Given the description of an element on the screen output the (x, y) to click on. 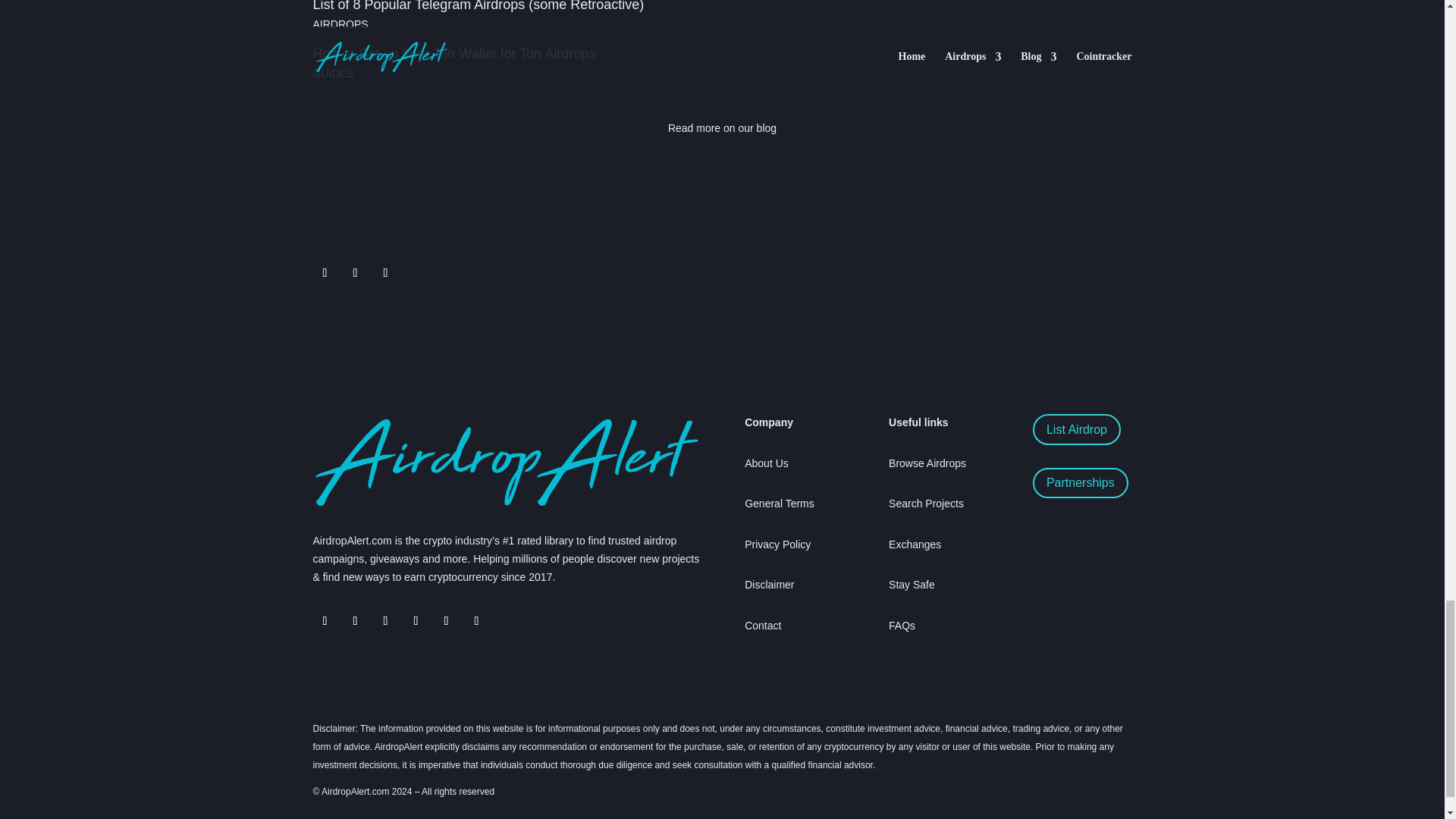
Follow on Telegram (354, 273)
airdrop-alert-logo (505, 461)
Follow on Instagram (415, 621)
Follow on Facebook (384, 273)
Follow on X (324, 273)
Follow on X (354, 621)
Follow on Facebook (384, 621)
Follow on Telegram (324, 621)
Follow on Youtube (445, 621)
